Given the description of an element on the screen output the (x, y) to click on. 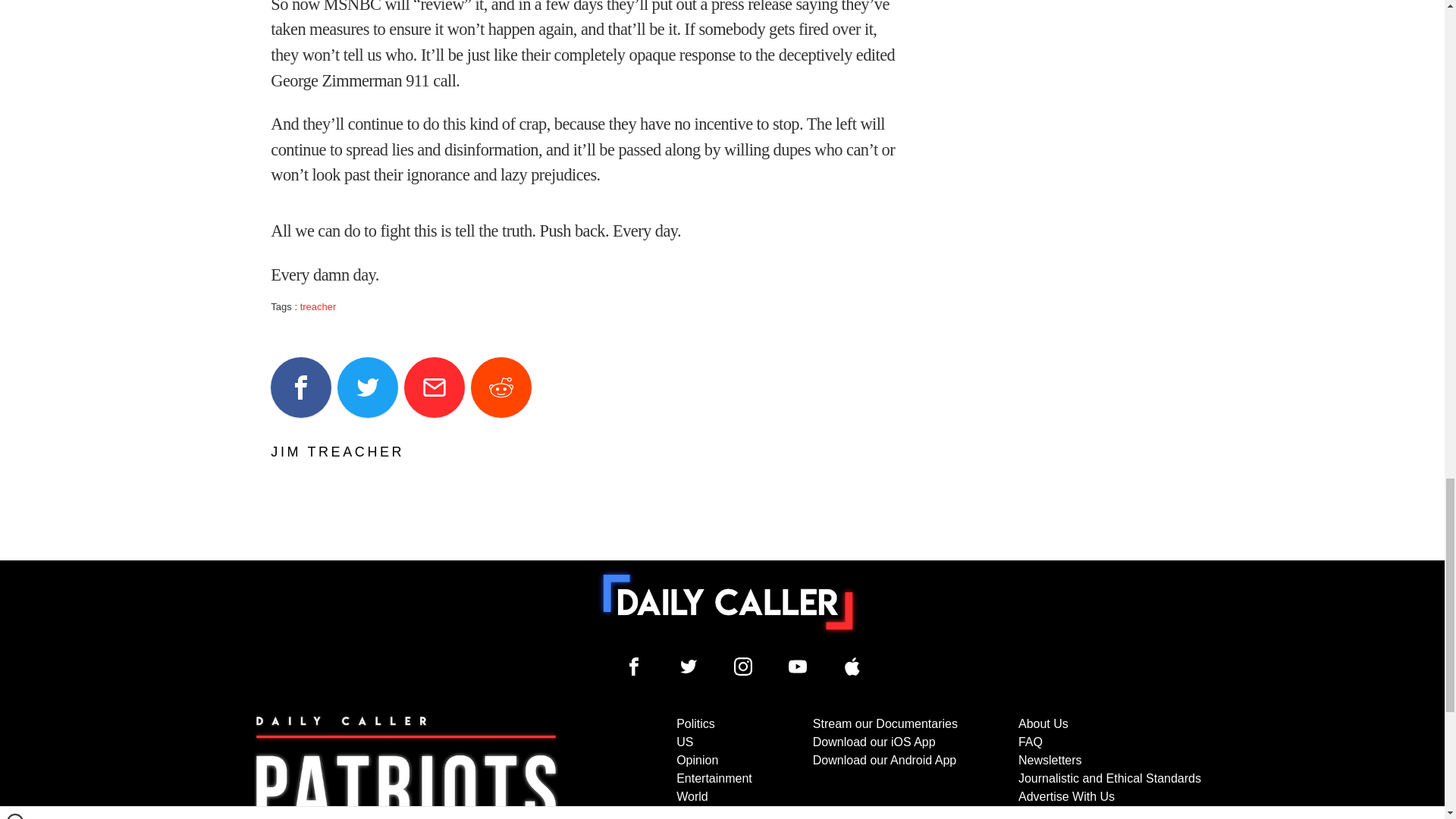
Daily Caller YouTube (797, 666)
Daily Caller YouTube (852, 666)
Daily Caller Facebook (633, 666)
Daily Caller Instagram (742, 666)
Subscribe to The Daily Caller (405, 766)
To home page (727, 602)
Daily Caller Twitter (688, 666)
